Given the description of an element on the screen output the (x, y) to click on. 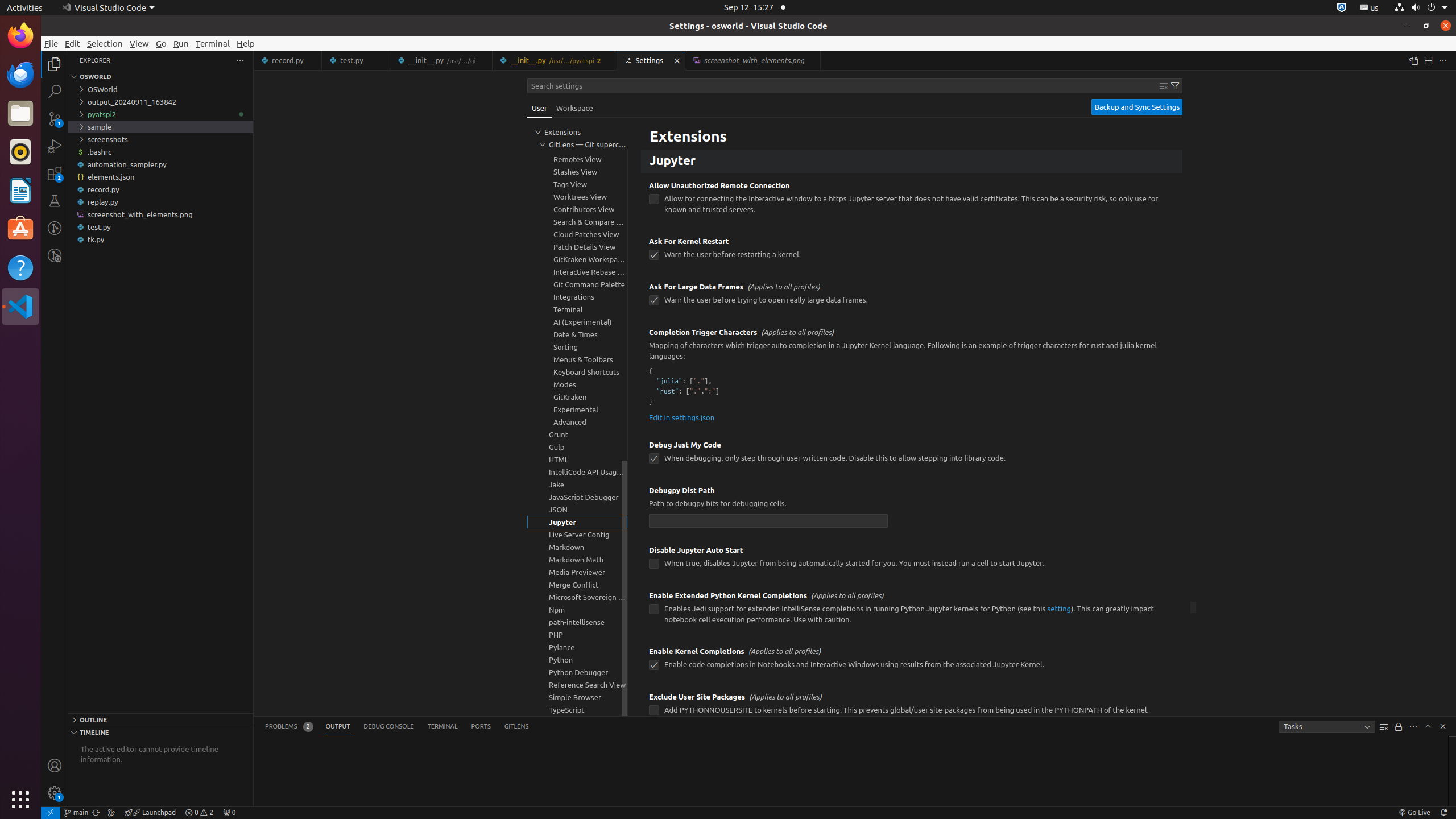
record.py Element type: tree-item (160, 189)
Close (Ctrl+W) Element type: push-button (812, 60)
JSON, group Element type: tree-item (577, 509)
